Given the description of an element on the screen output the (x, y) to click on. 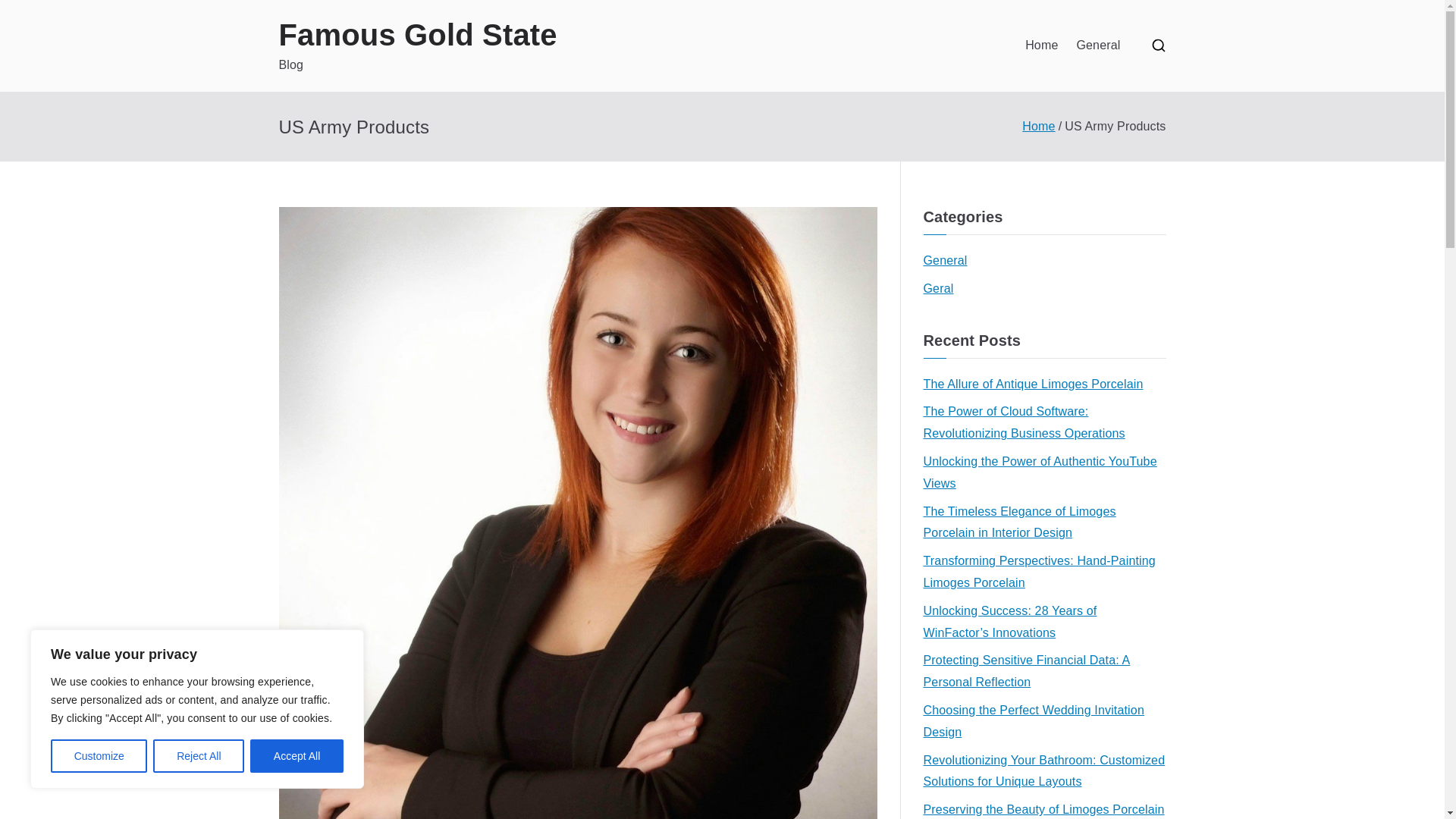
Famous Gold State (418, 34)
Home (1041, 45)
Accept All (296, 756)
Customize (98, 756)
General (1097, 45)
General (945, 260)
Geral (938, 289)
Home (1038, 125)
Reject All (198, 756)
